Given the description of an element on the screen output the (x, y) to click on. 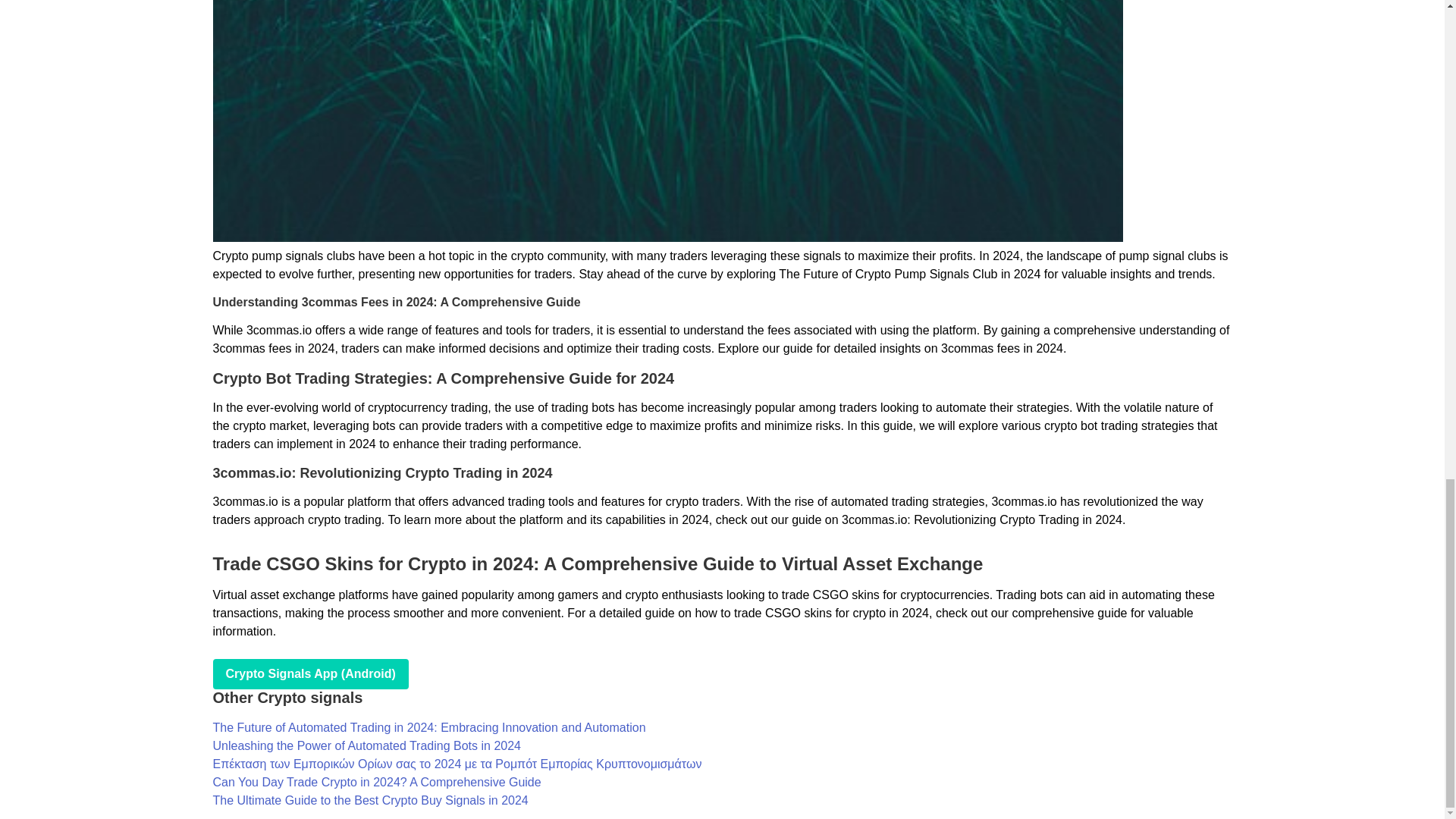
Unleashing the Power of Automated Trading Bots in 2024 (365, 745)
Can You Day Trade Crypto in 2024? A Comprehensive Guide (376, 781)
The Ultimate Guide to the Best Crypto Buy Signals in 2024 (369, 799)
play (309, 674)
Unleashing the Power of Automated Trading Bots in 2024 (365, 745)
The Ultimate Guide to the Best Crypto Buy Signals in 2024 (369, 799)
Can You Day Trade Crypto in 2024? A Comprehensive Guide (376, 781)
